Given the description of an element on the screen output the (x, y) to click on. 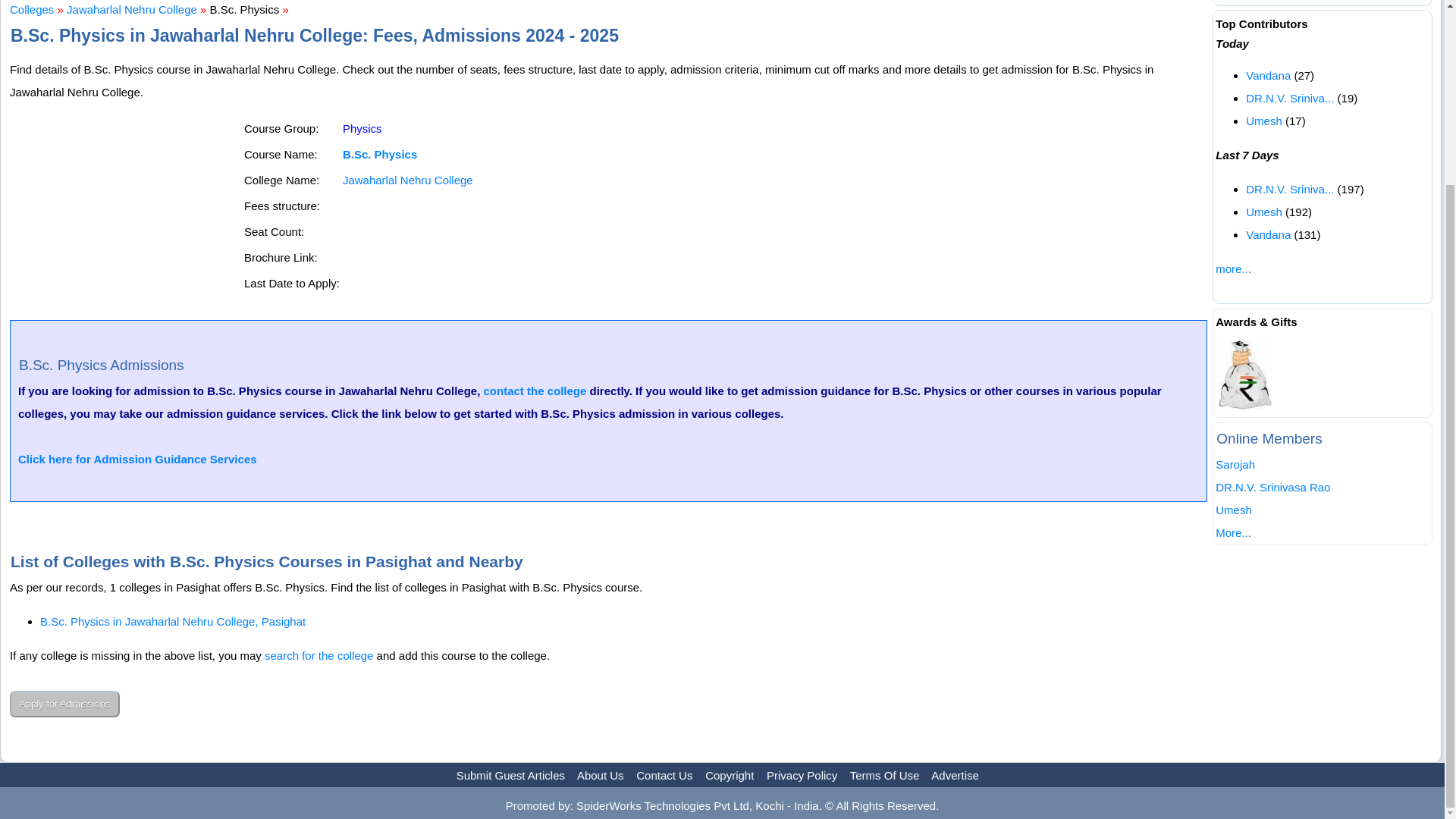
Jawaharlal Nehru College website (407, 179)
Jawaharlal Nehru College (407, 179)
DR.N.V. Sriniva... (1289, 188)
Apply for Admissions (64, 704)
3rd party ad content (125, 212)
Jawaharlal Nehru College (131, 9)
search for the college (318, 655)
Apply for Admissions (64, 704)
Umesh (1264, 120)
contact the college (534, 390)
B.Sc. Physics (379, 154)
Click here for Admission Guidance Services (137, 459)
Colleges (31, 9)
Vandana (1268, 74)
Physics (361, 128)
